Given the description of an element on the screen output the (x, y) to click on. 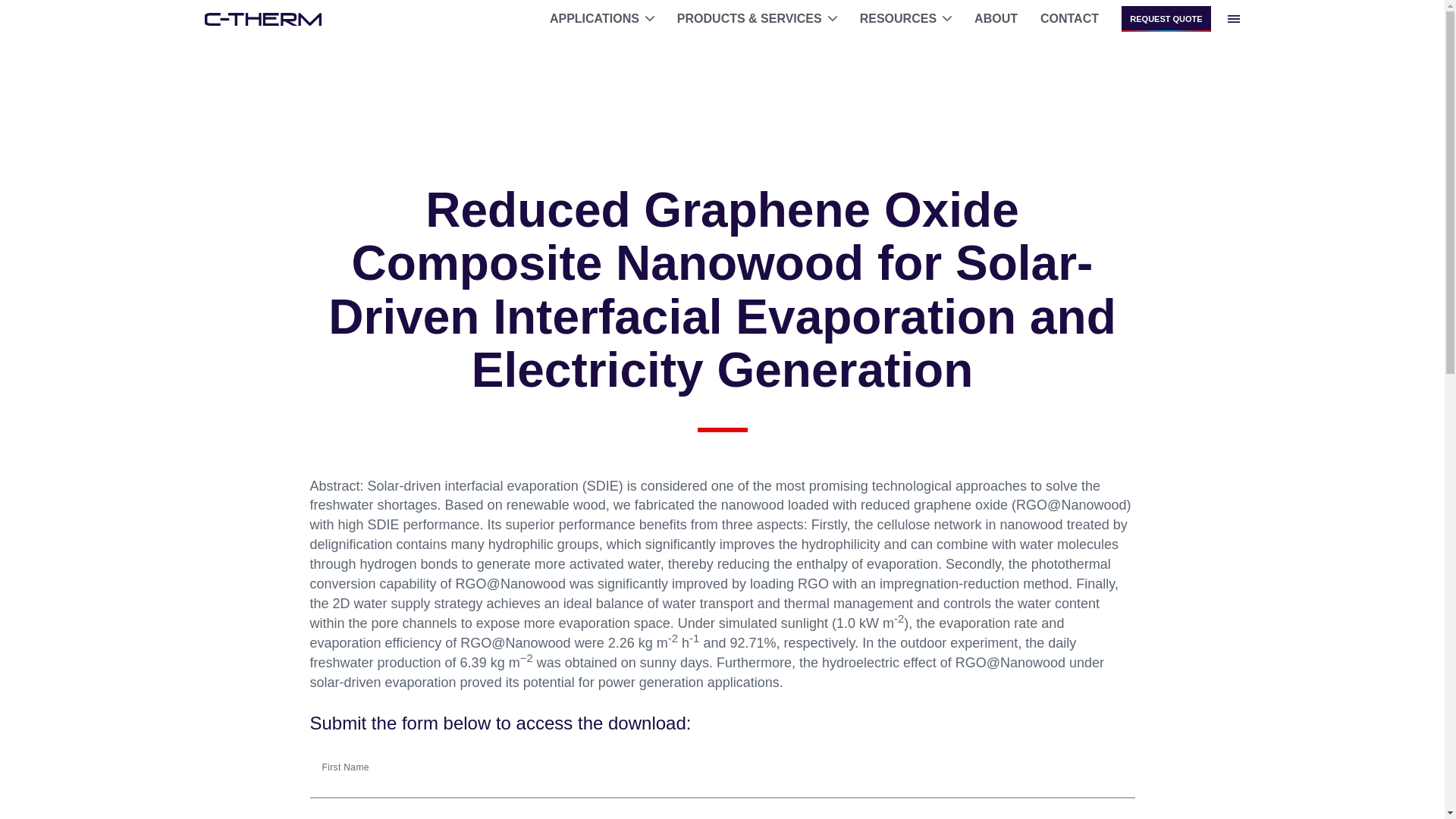
C-Therm - Simplifying Thermal Conductivity (262, 18)
RESOURCES (906, 18)
APPLICATIONS (601, 18)
APPLICATIONS (601, 18)
ABOUT (995, 18)
RESOURCES (906, 18)
